Given the description of an element on the screen output the (x, y) to click on. 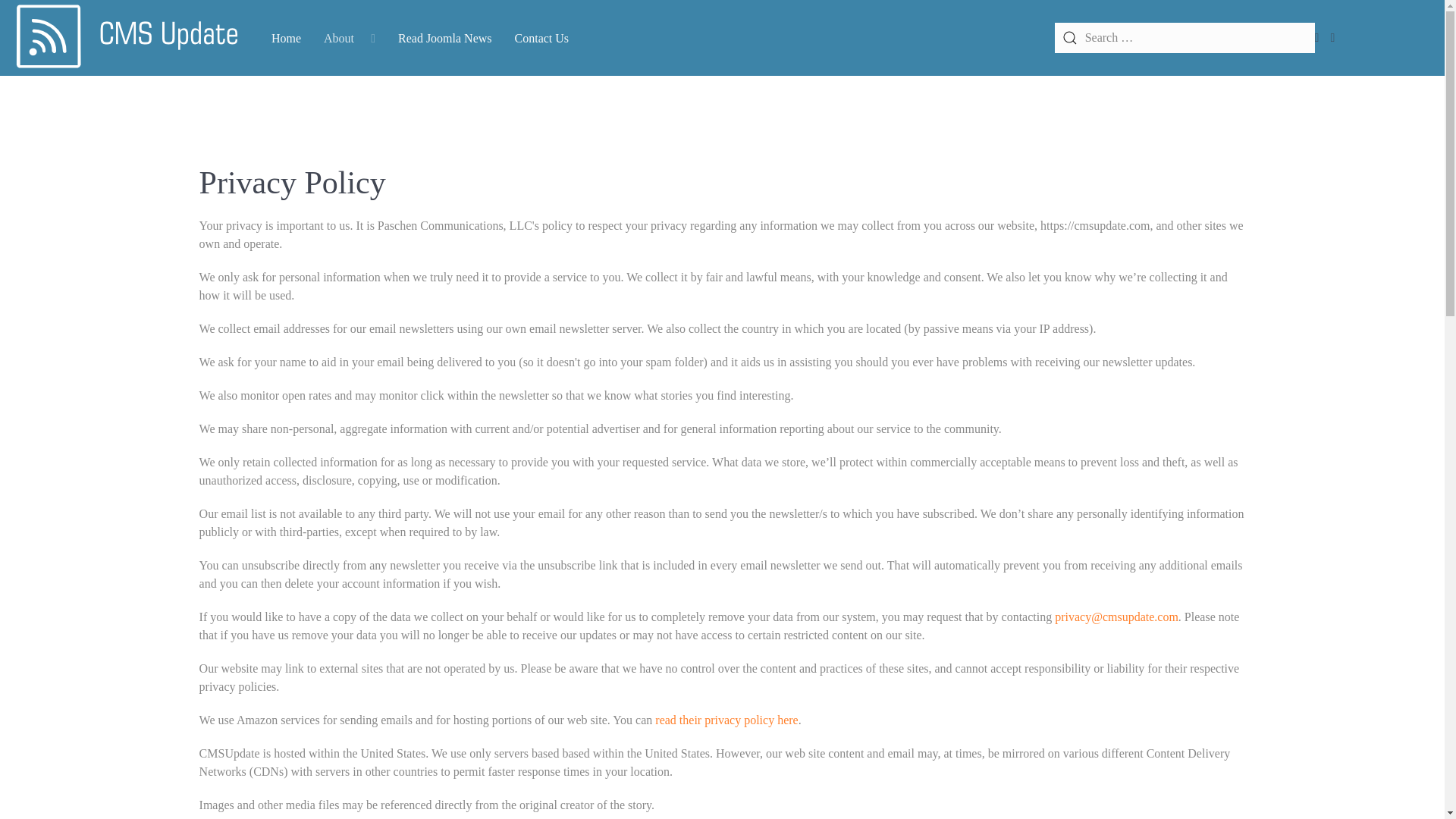
Contact Us (541, 37)
read their privacy policy here (726, 719)
Bostan (125, 38)
Read Joomla News (445, 37)
About (350, 37)
